Given the description of an element on the screen output the (x, y) to click on. 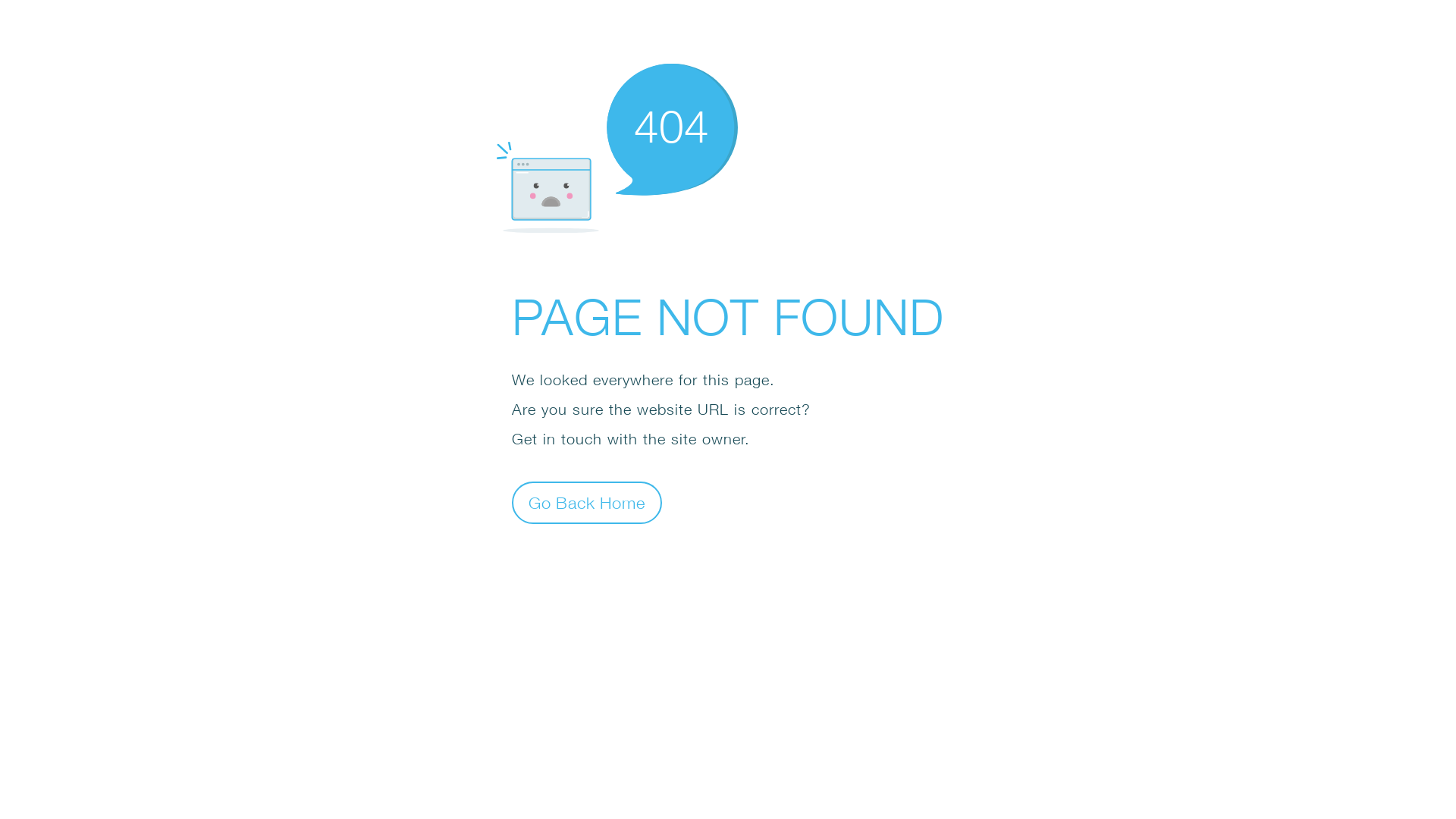
Go Back Home Element type: text (586, 502)
